Given the description of an element on the screen output the (x, y) to click on. 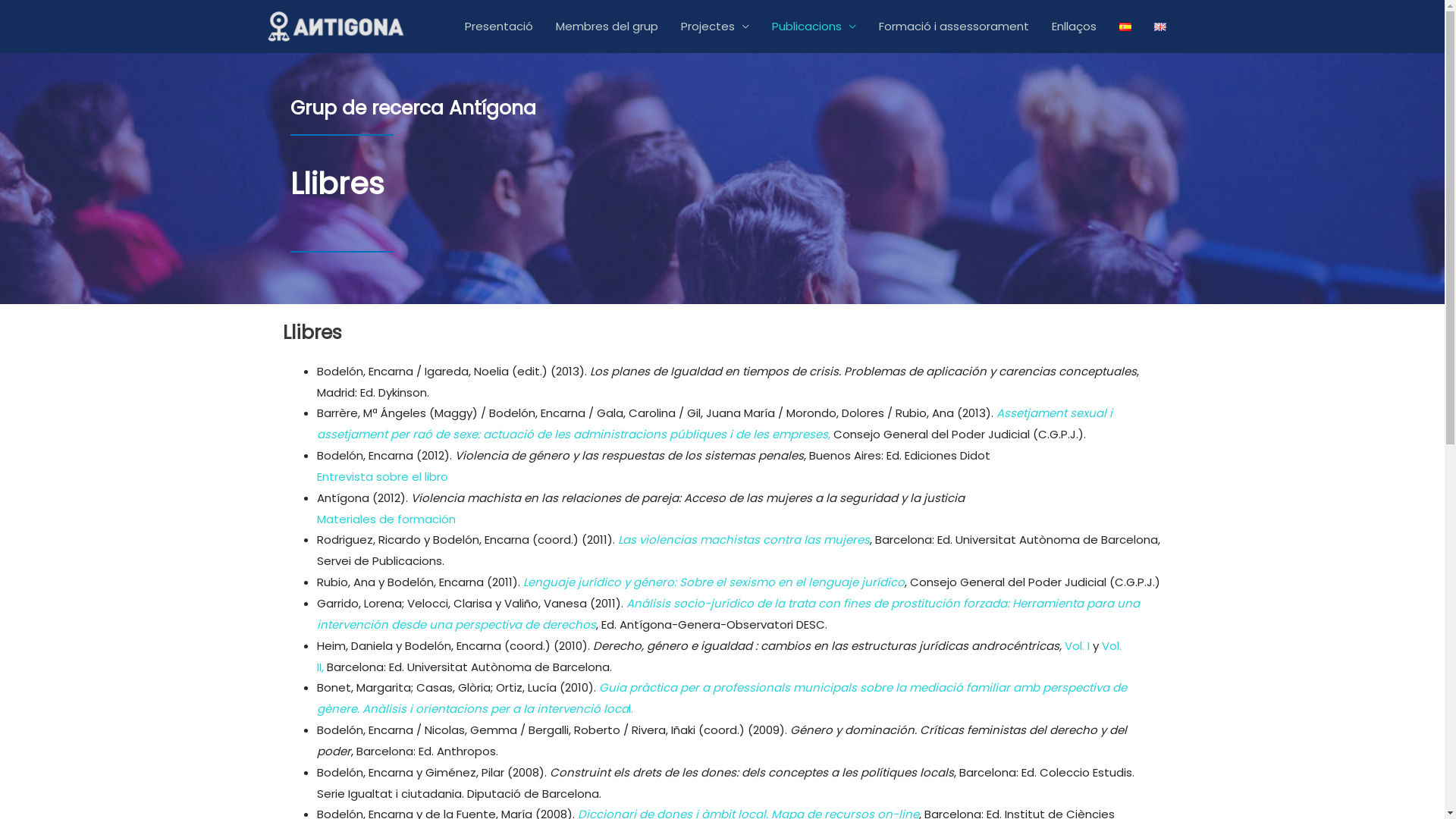
Projectes Element type: text (713, 26)
Vol. II,  Element type: text (718, 655)
Las violencias machistas contra las mujeres Element type: text (743, 539)
Vol. I Element type: text (1075, 645)
Publicacions Element type: text (812, 26)
Membres del grup Element type: text (606, 26)
Entrevista sobre el libro Element type: text (382, 476)
